Given the description of an element on the screen output the (x, y) to click on. 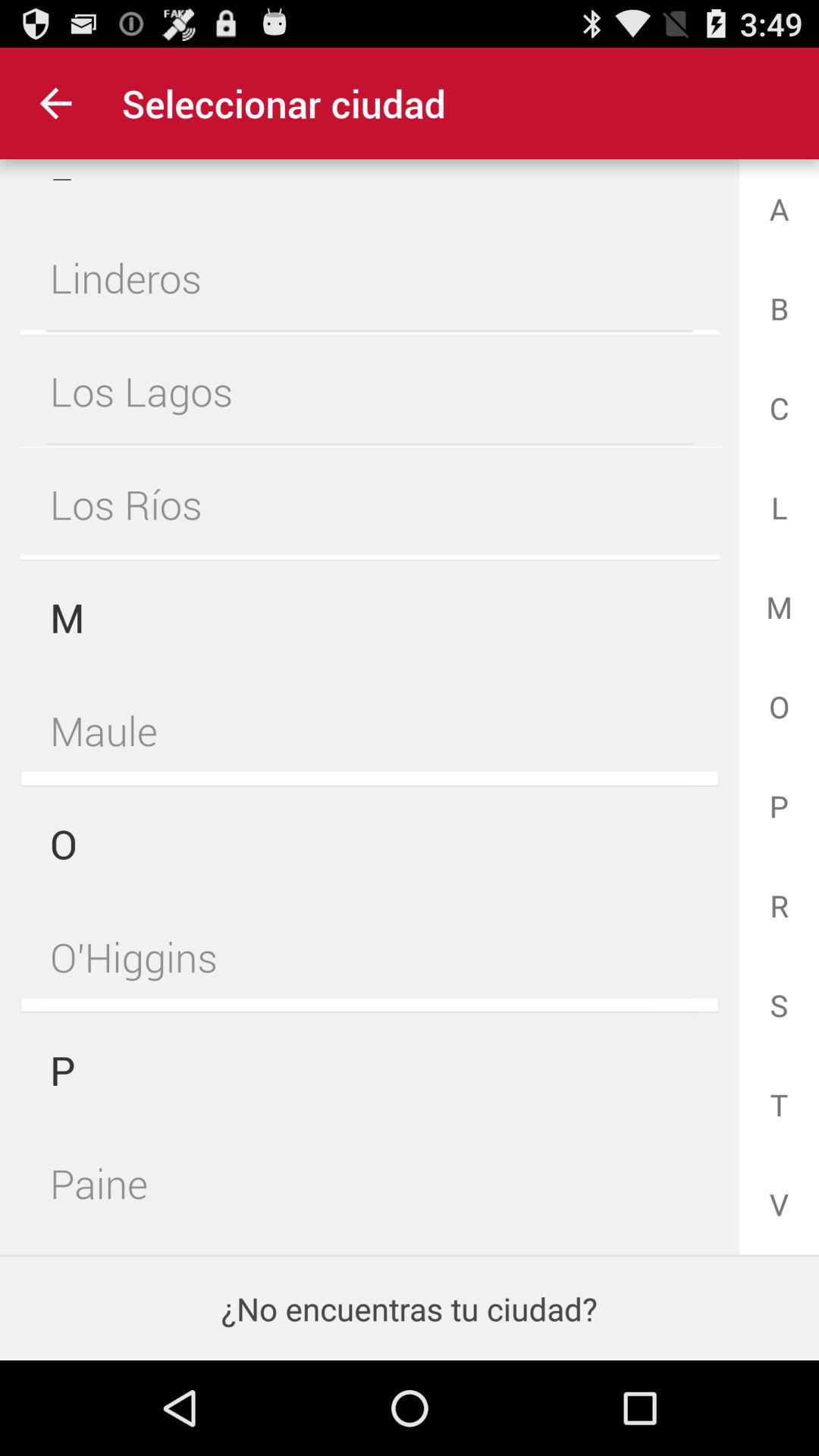
launch icon to the left of seleccionar ciudad icon (55, 103)
